Given the description of an element on the screen output the (x, y) to click on. 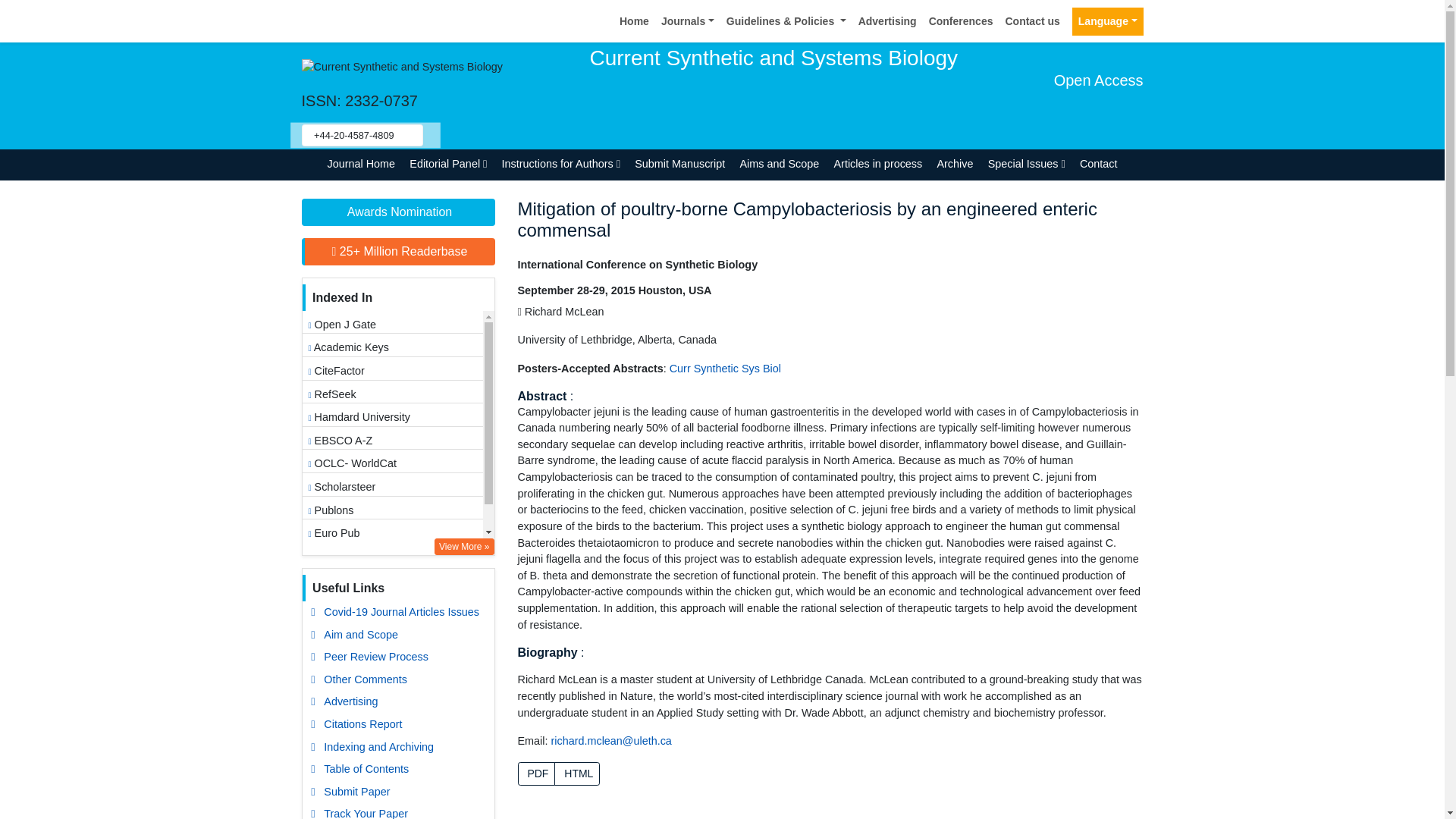
Journal Home (361, 164)
Aims and Scope (779, 164)
Instructions for Authors (561, 164)
Language (1106, 21)
Conferences (960, 21)
Advertising (887, 21)
Home (633, 21)
Conferences (960, 21)
Advertising (887, 21)
Contact us (1031, 21)
